Given the description of an element on the screen output the (x, y) to click on. 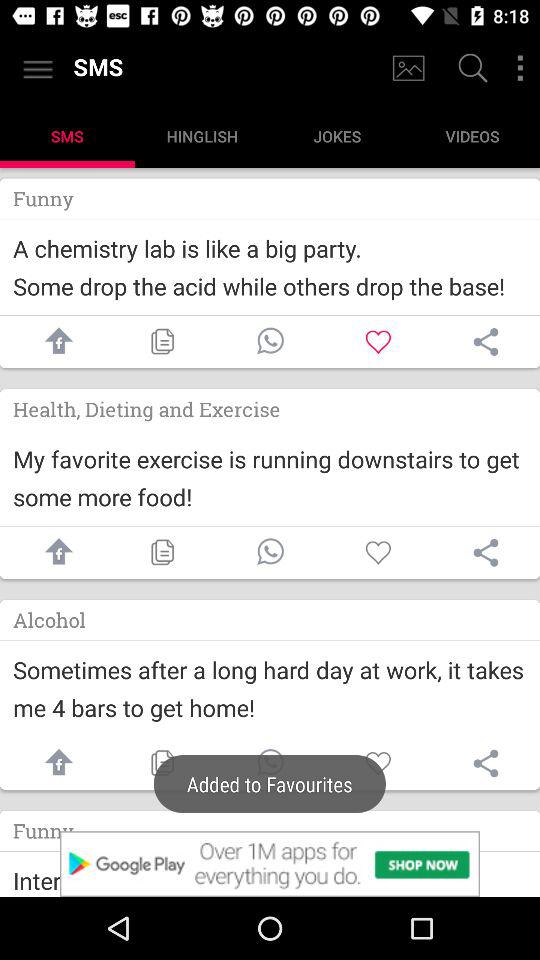
copy sms (162, 552)
